Given the description of an element on the screen output the (x, y) to click on. 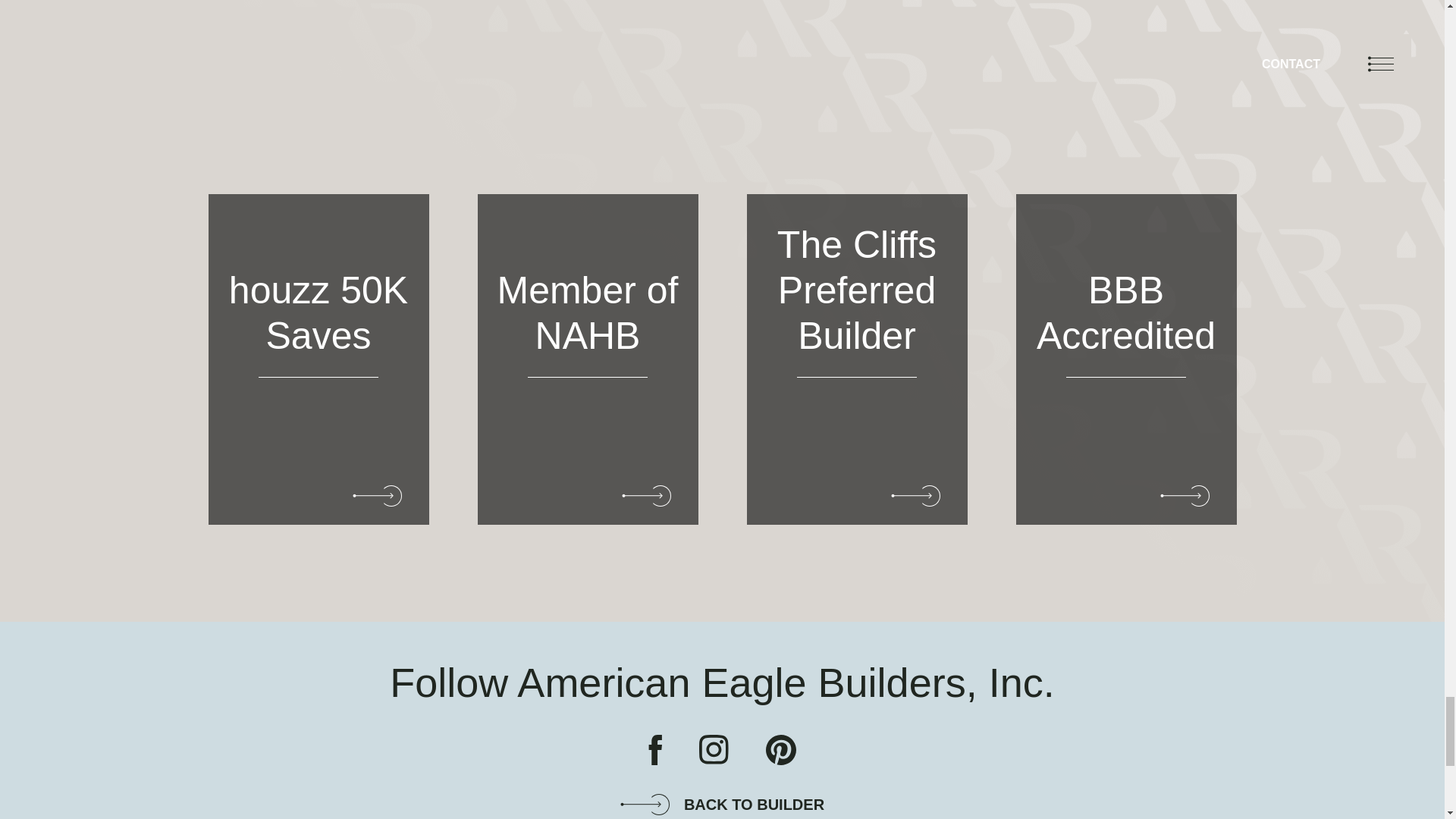
American Eagle Builders, Inc. on Instagram (713, 749)
BACK TO BUILDER (722, 804)
American Eagle Builders, Inc. on Pinterest (780, 749)
